Given the description of an element on the screen output the (x, y) to click on. 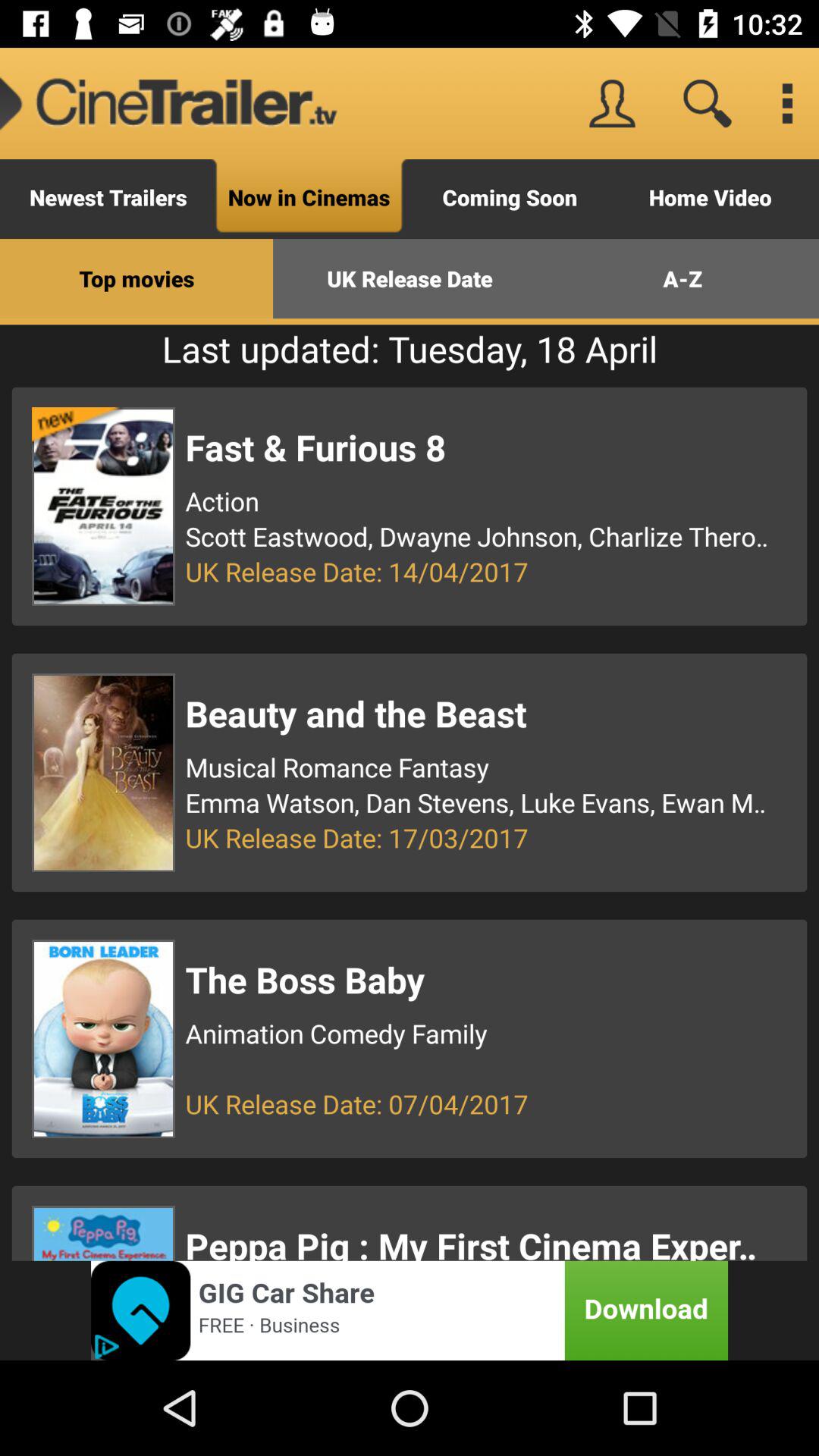
go to gig car share advertisement website (409, 1310)
